Given the description of an element on the screen output the (x, y) to click on. 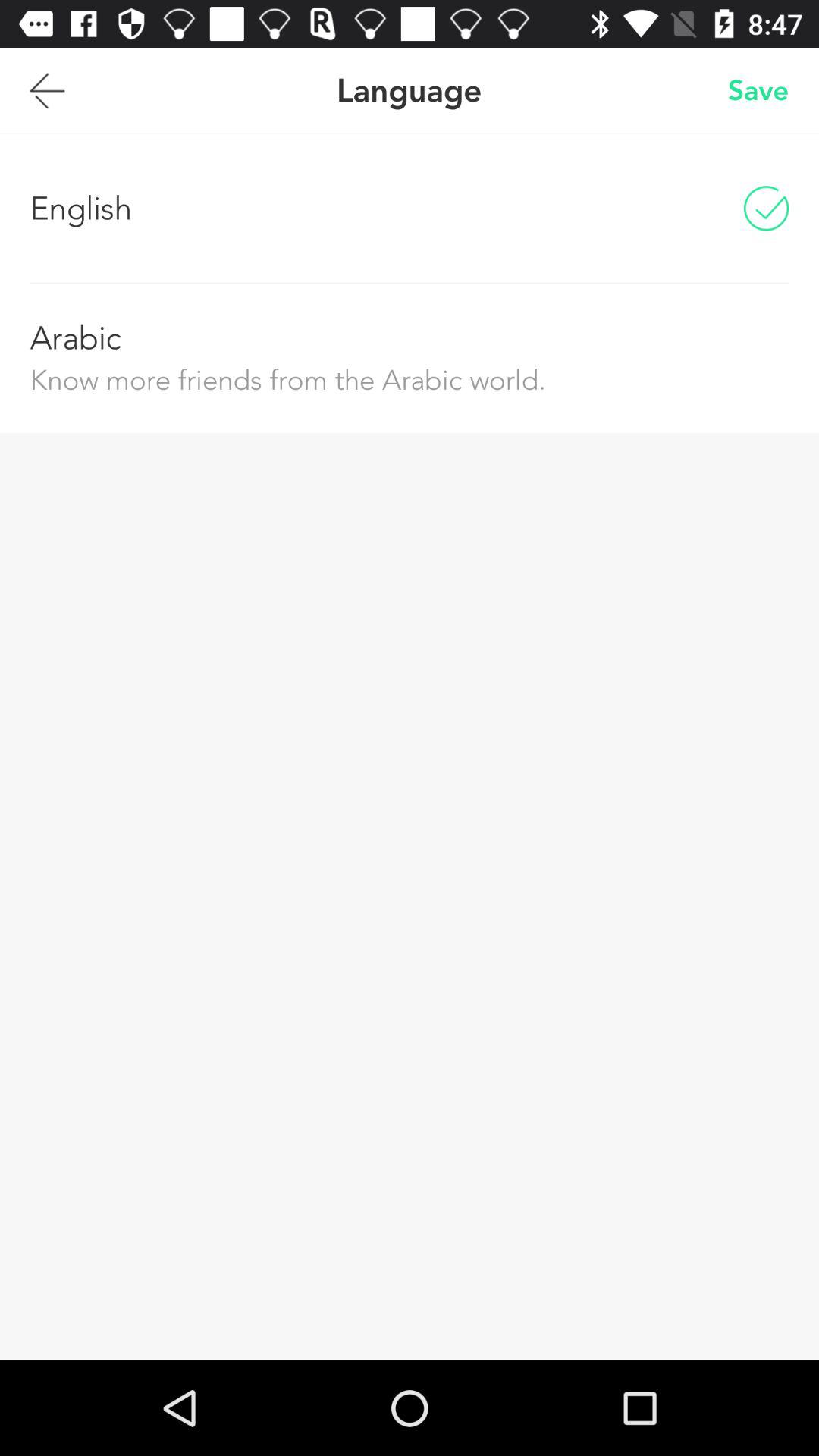
open icon next to the language item (47, 90)
